Given the description of an element on the screen output the (x, y) to click on. 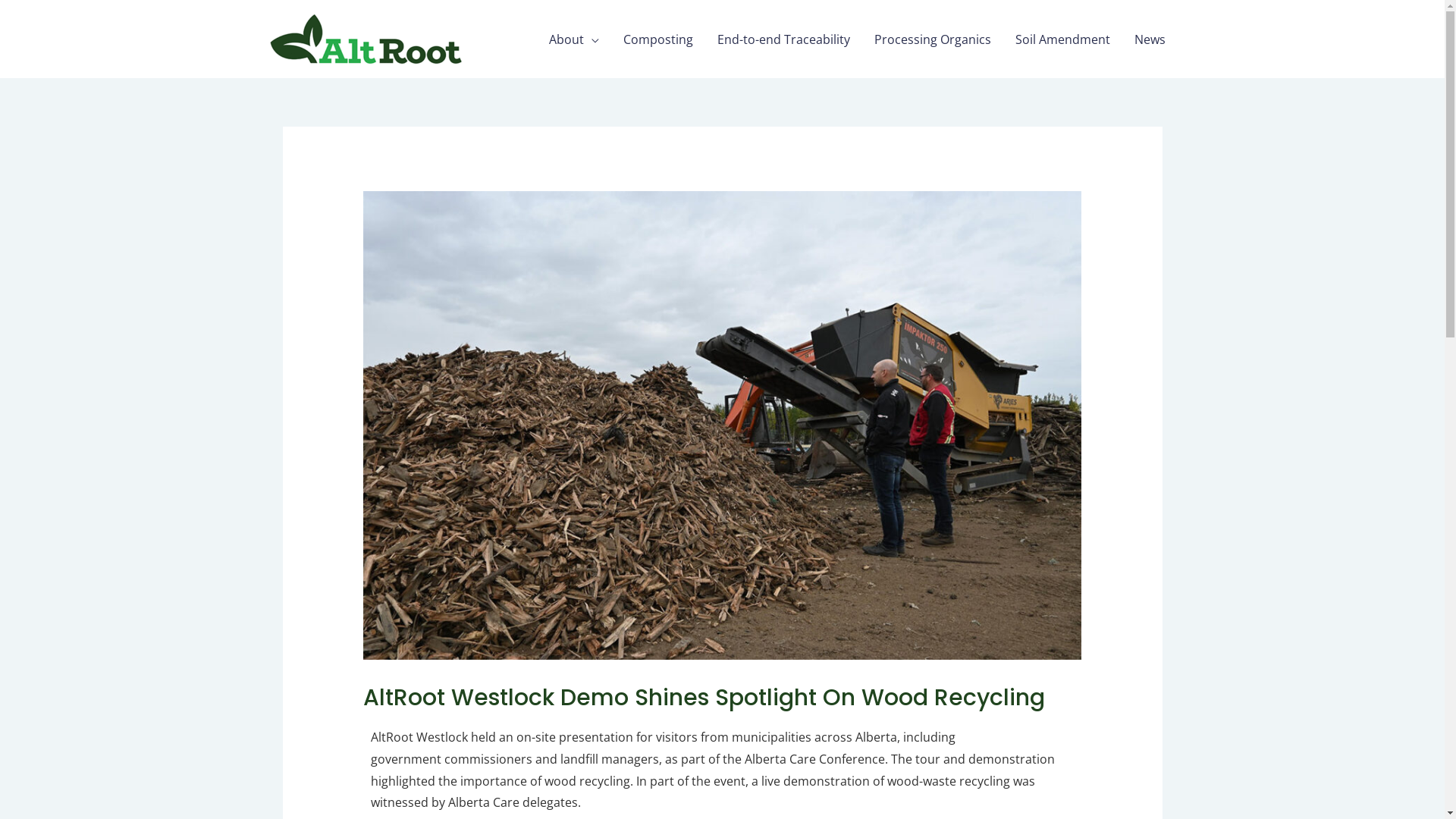
About Element type: text (573, 38)
Composting Element type: text (658, 38)
News Element type: text (1149, 38)
Processing Organics Element type: text (931, 38)
End-to-end Traceability Element type: text (783, 38)
Soil Amendment Element type: text (1061, 38)
